Given the description of an element on the screen output the (x, y) to click on. 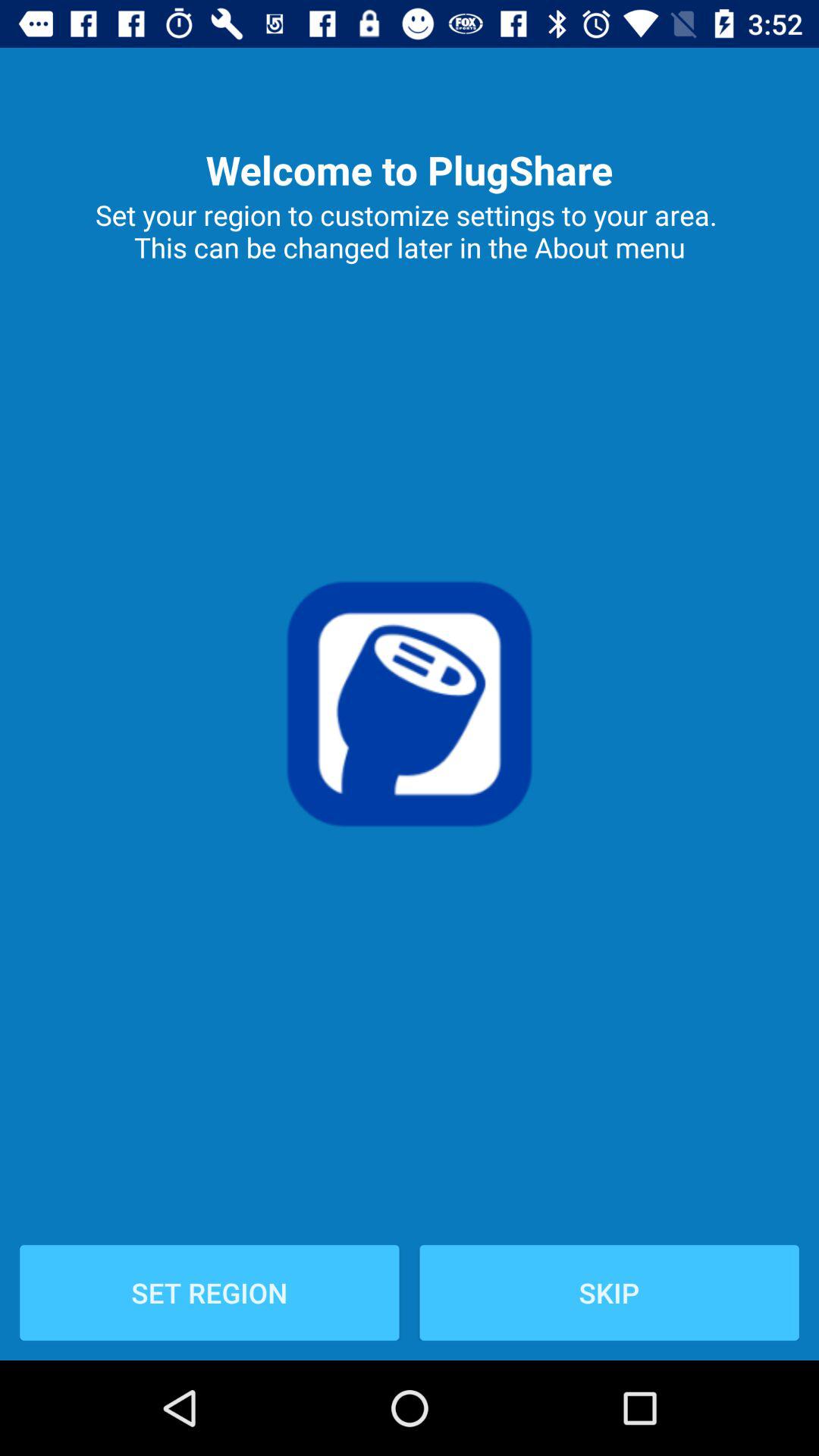
turn on the icon to the right of set region (609, 1292)
